Given the description of an element on the screen output the (x, y) to click on. 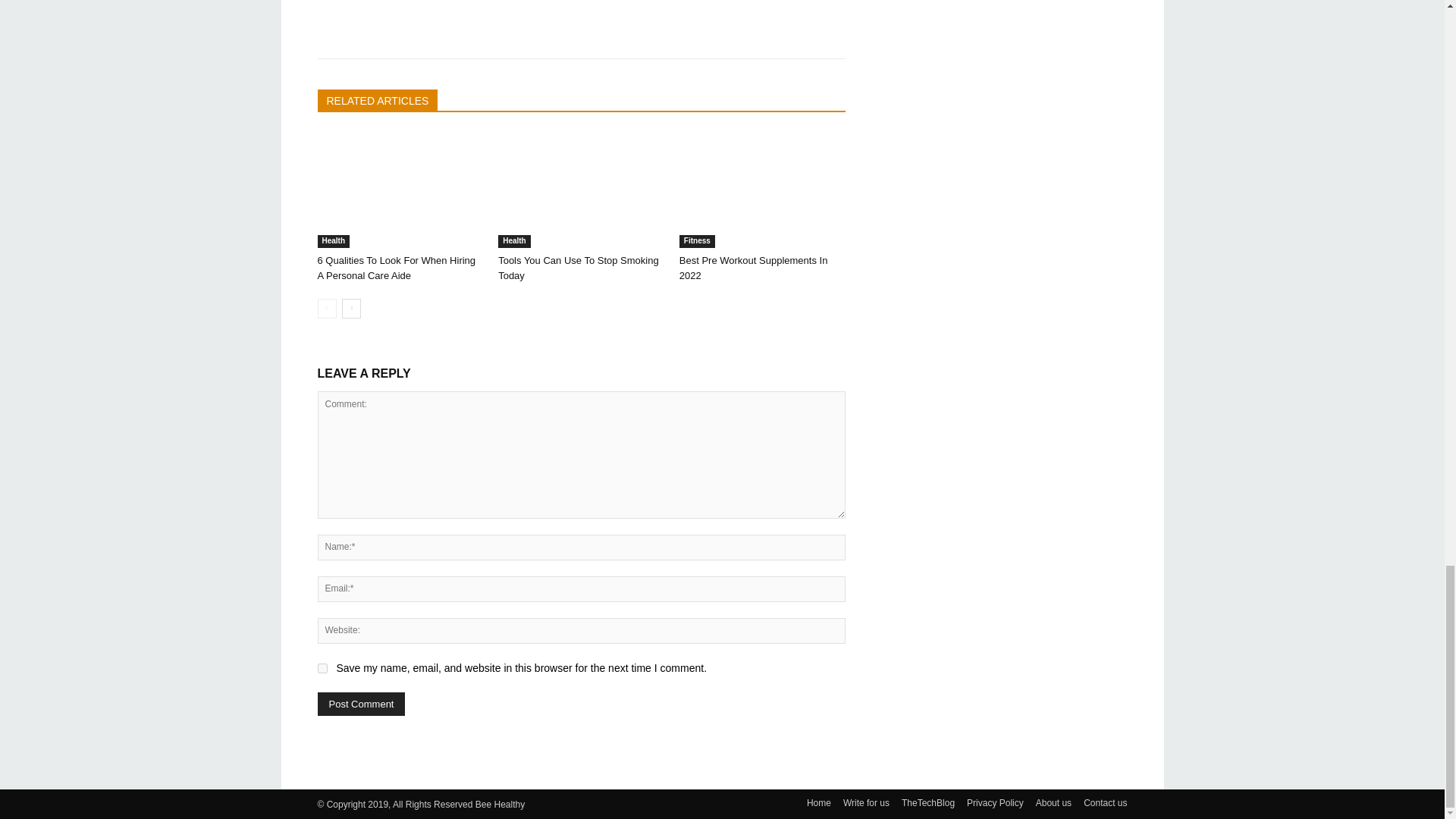
Post Comment (360, 703)
yes (321, 668)
Health (333, 241)
